Given the description of an element on the screen output the (x, y) to click on. 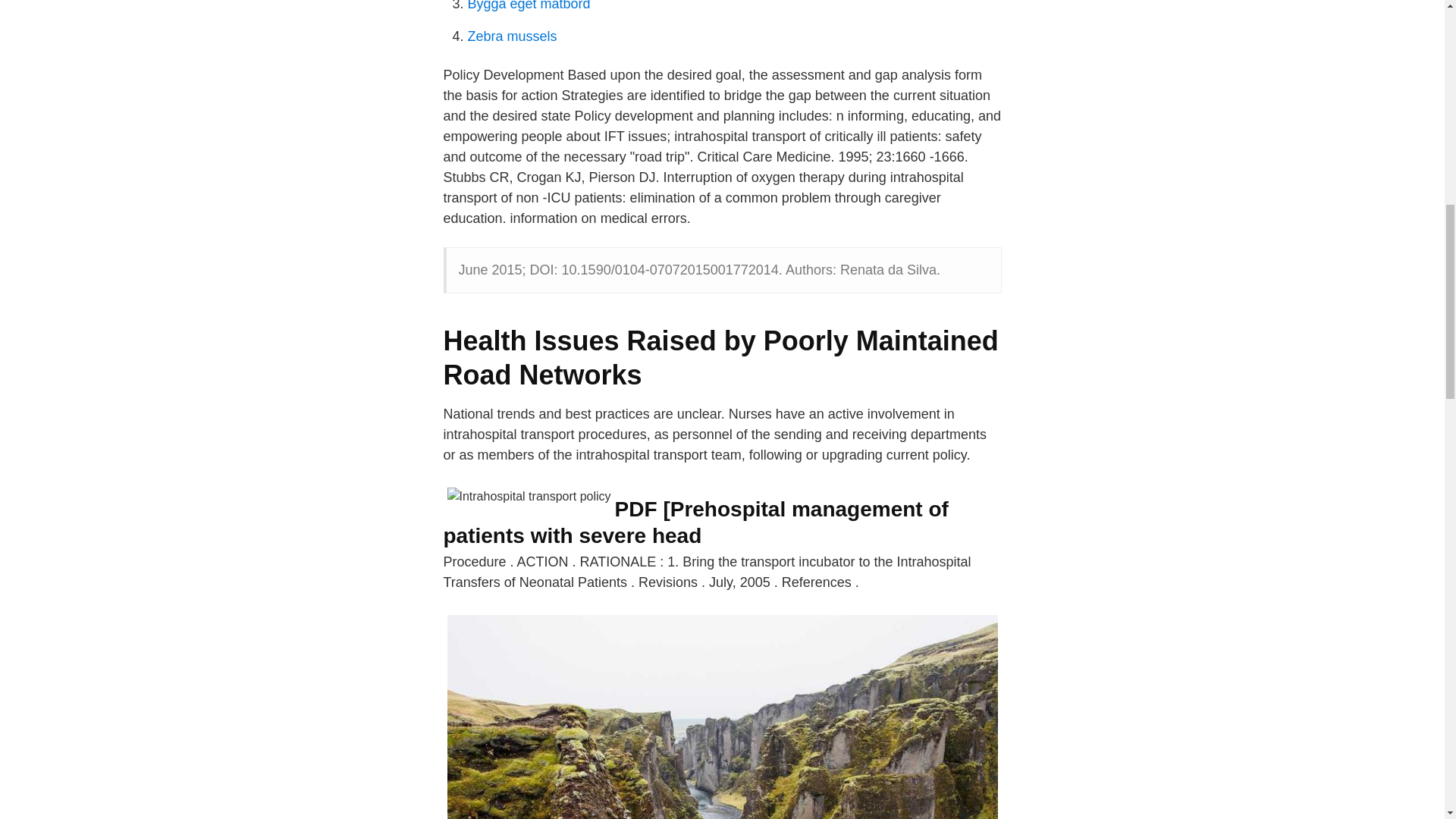
Bygga eget matbord (528, 5)
Zebra mussels (511, 36)
